Given the description of an element on the screen output the (x, y) to click on. 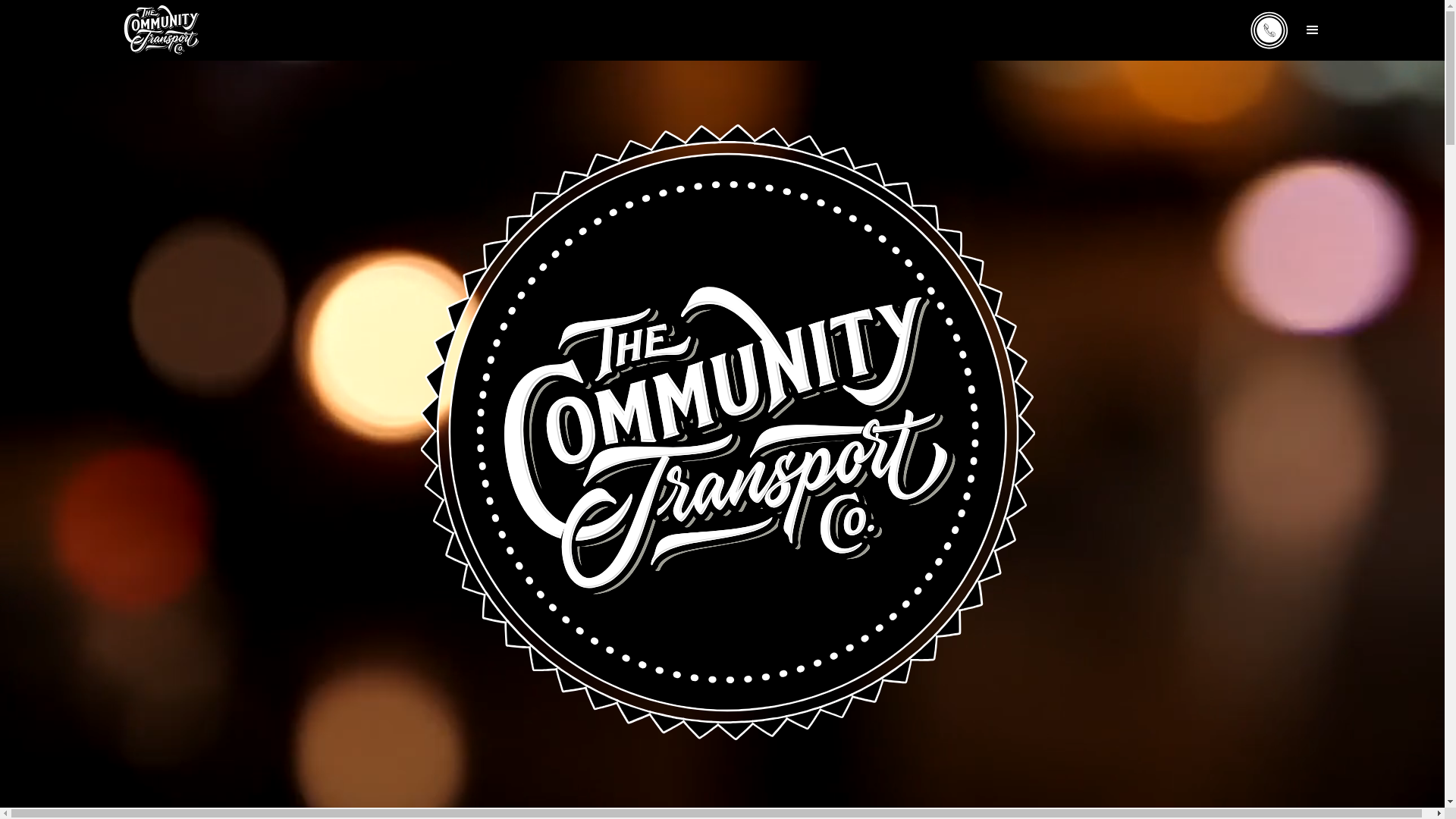
Ballina, Tweed Heads, Byron Bay Community Transport Company Element type: text (722, 69)
Volunteer / Volunteering Ballina, Tweed Heads, Byron Bay Element type: text (722, 69)
